Given the description of an element on the screen output the (x, y) to click on. 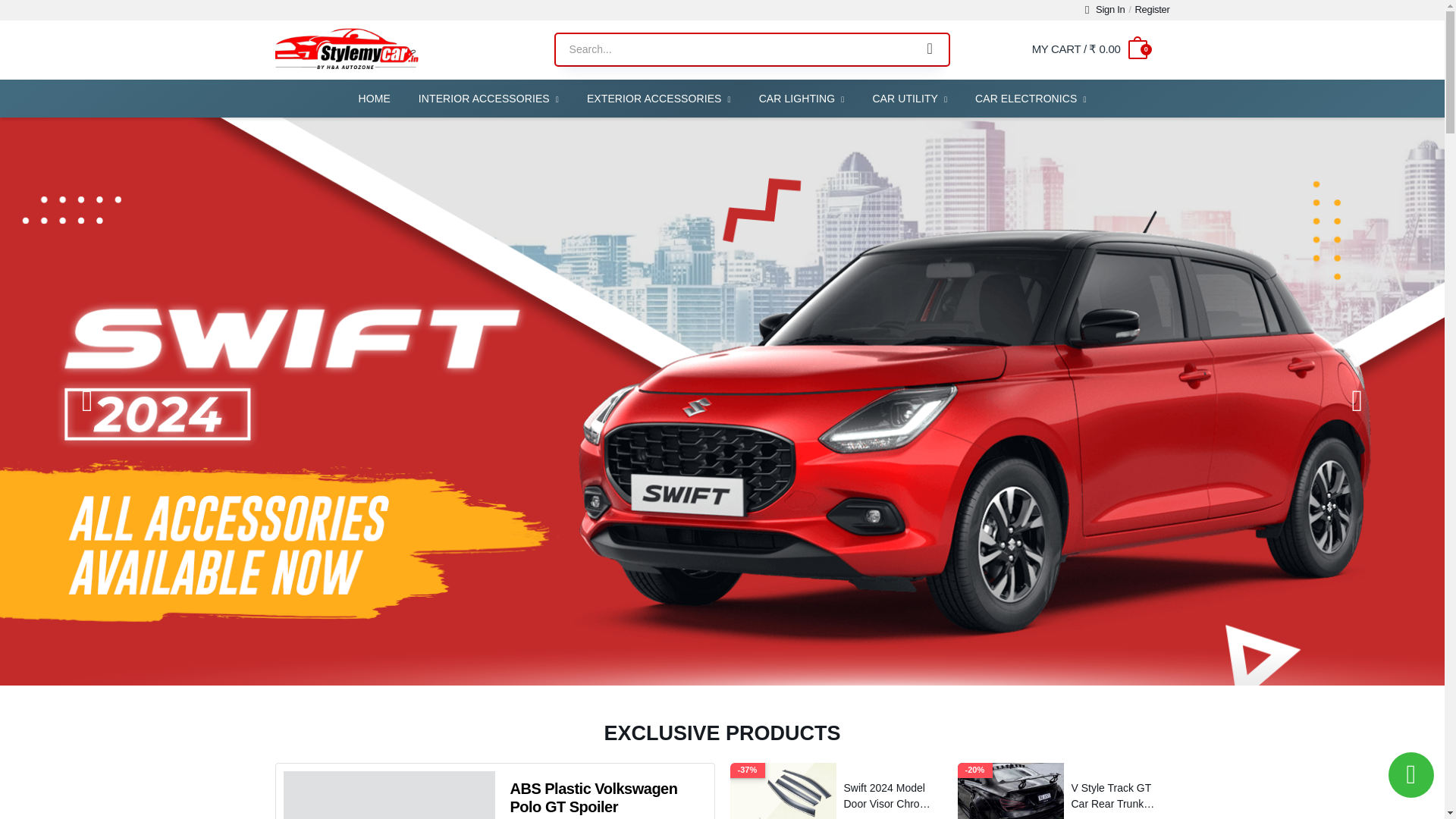
presentation (86, 400)
INTERIOR ACCESSORIES (488, 98)
submit-button (930, 49)
HOME (373, 98)
EXTERIOR ACCESSORIES (658, 98)
Register (1151, 10)
presentation (1357, 400)
Sign In (1104, 10)
